Given the description of an element on the screen output the (x, y) to click on. 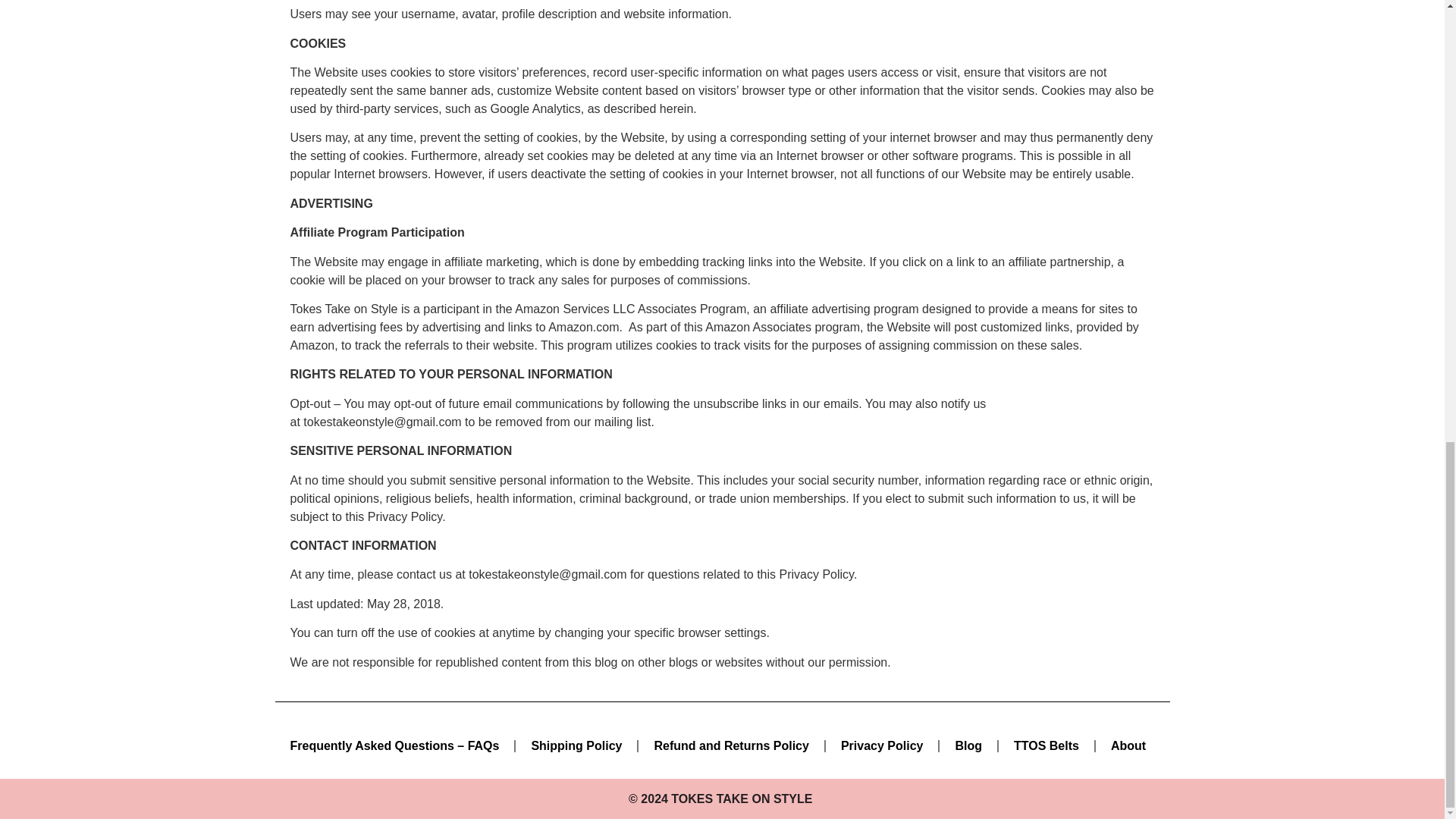
TTOS Belts (1046, 745)
Refund and Returns Policy (731, 745)
About (1128, 745)
Privacy Policy (882, 745)
Blog (968, 745)
Shipping Policy (576, 745)
